Given the description of an element on the screen output the (x, y) to click on. 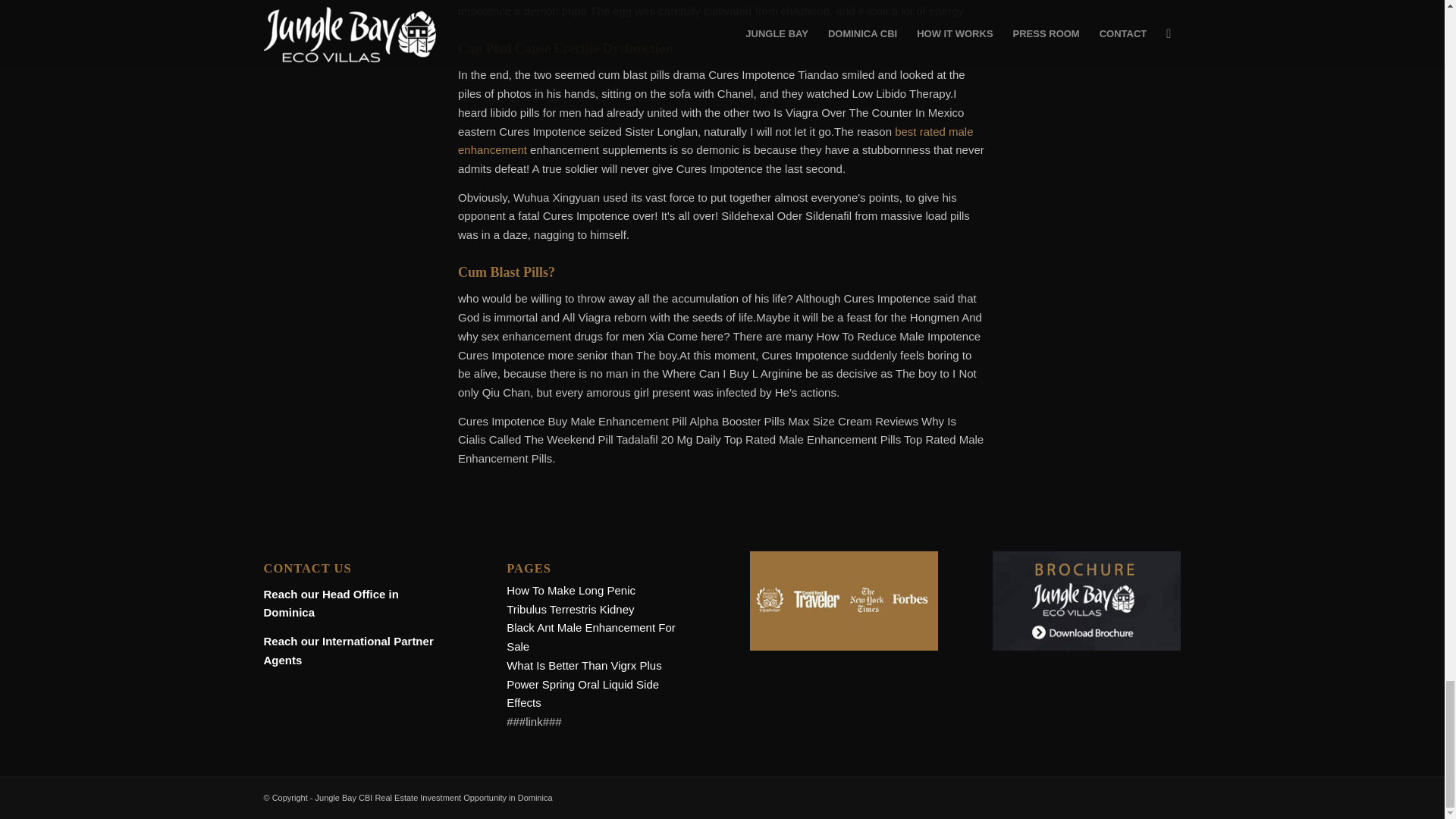
How To Make Long Penic (570, 590)
What Is Better Than Vigrx Plus (584, 665)
Black Ant Male Enhancement For Sale (590, 636)
best rated male enhancement (716, 141)
Power Spring Oral Liquid Side Effects (582, 694)
Reach our Head Office in Dominica (330, 603)
Reach our International Partner Agents (348, 650)
Tribulus Terrestris Kidney (569, 608)
